Given the description of an element on the screen output the (x, y) to click on. 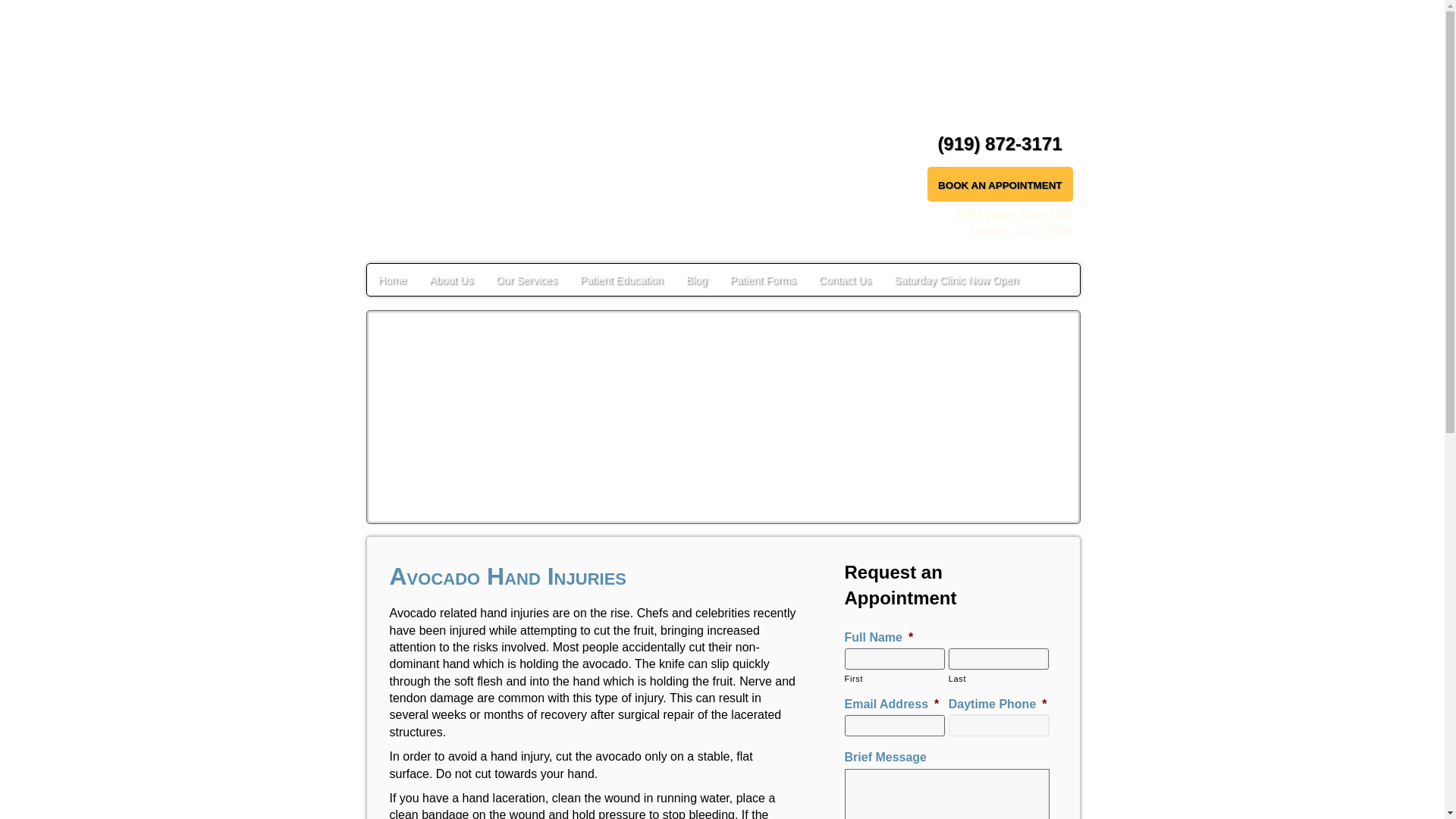
Home (391, 279)
About Us (450, 279)
Patient Education (620, 279)
BOOK AN APPOINTMENT (999, 184)
Our Services (525, 279)
